Given the description of an element on the screen output the (x, y) to click on. 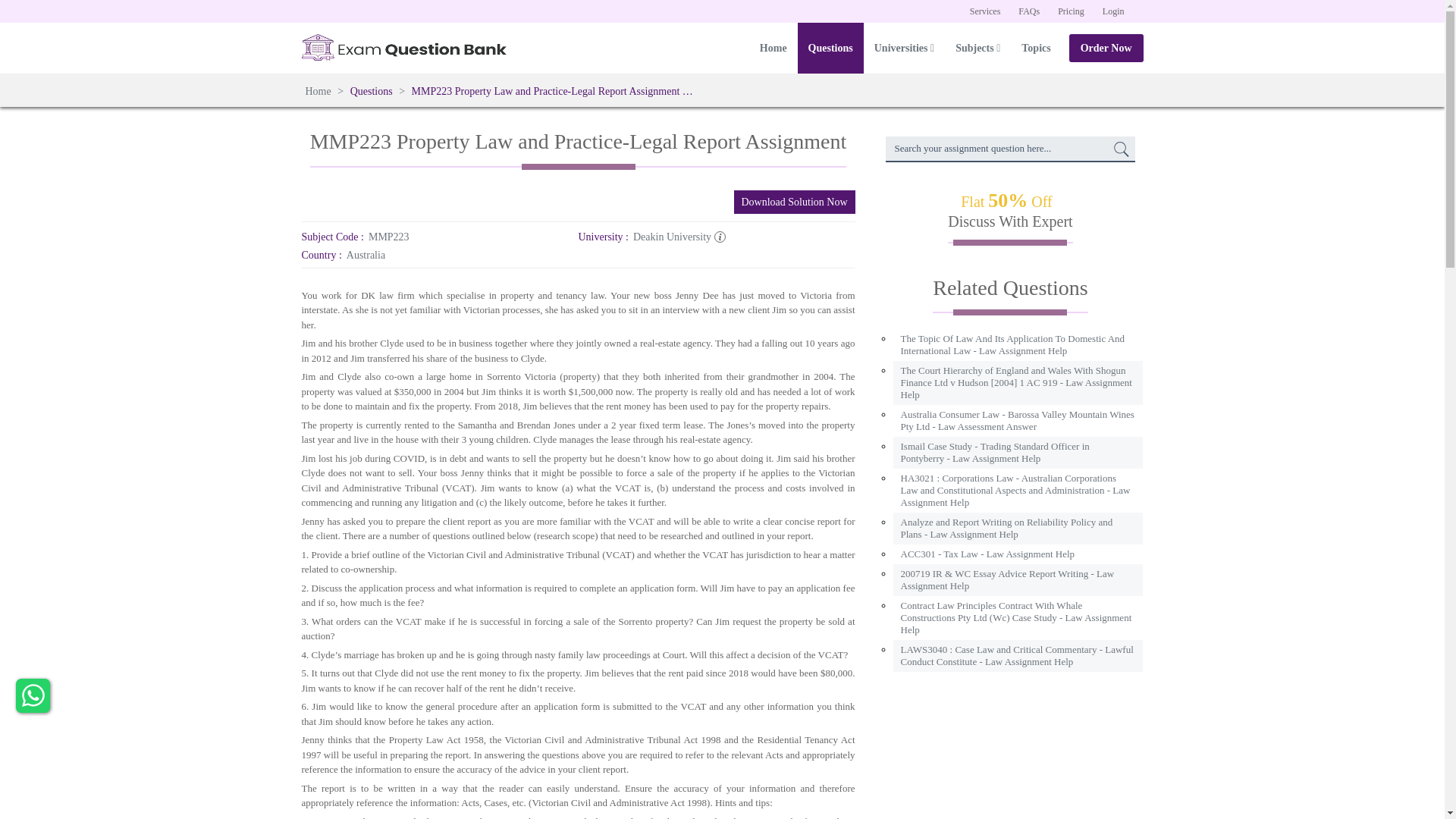
Order Now (1105, 48)
Home (319, 91)
Home (773, 47)
Services (985, 11)
Subjects (977, 47)
Login (1113, 11)
Questions (371, 91)
Questions (830, 47)
Universities (903, 47)
FAQs (1028, 11)
Pricing (1070, 11)
Topics (1035, 47)
